Given the description of an element on the screen output the (x, y) to click on. 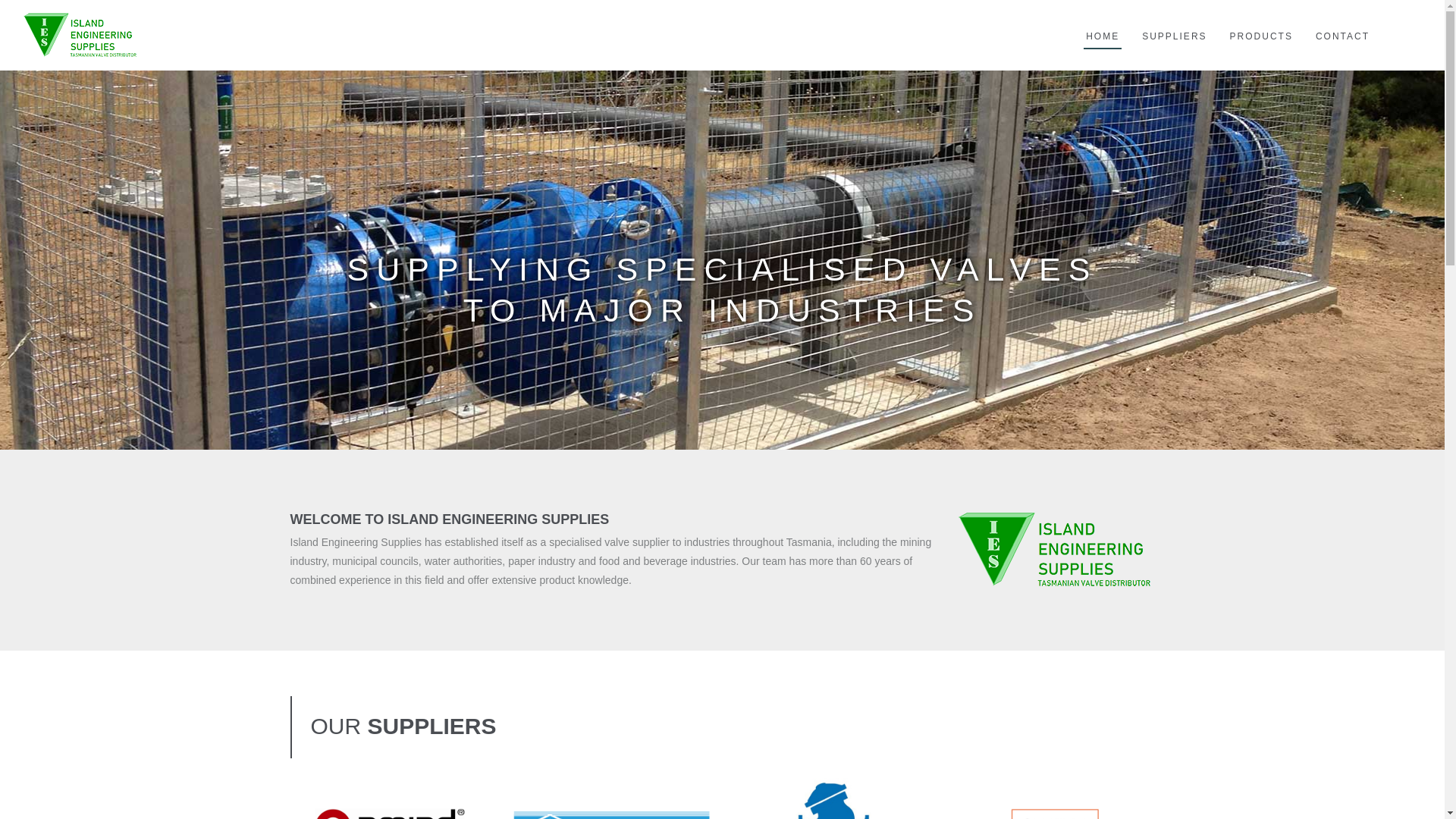
SUPPLIERS Element type: text (1173, 24)
CONTACT Element type: text (1342, 24)
HOME Element type: text (1102, 24)
PRODUCTS Element type: text (1261, 24)
